Given the description of an element on the screen output the (x, y) to click on. 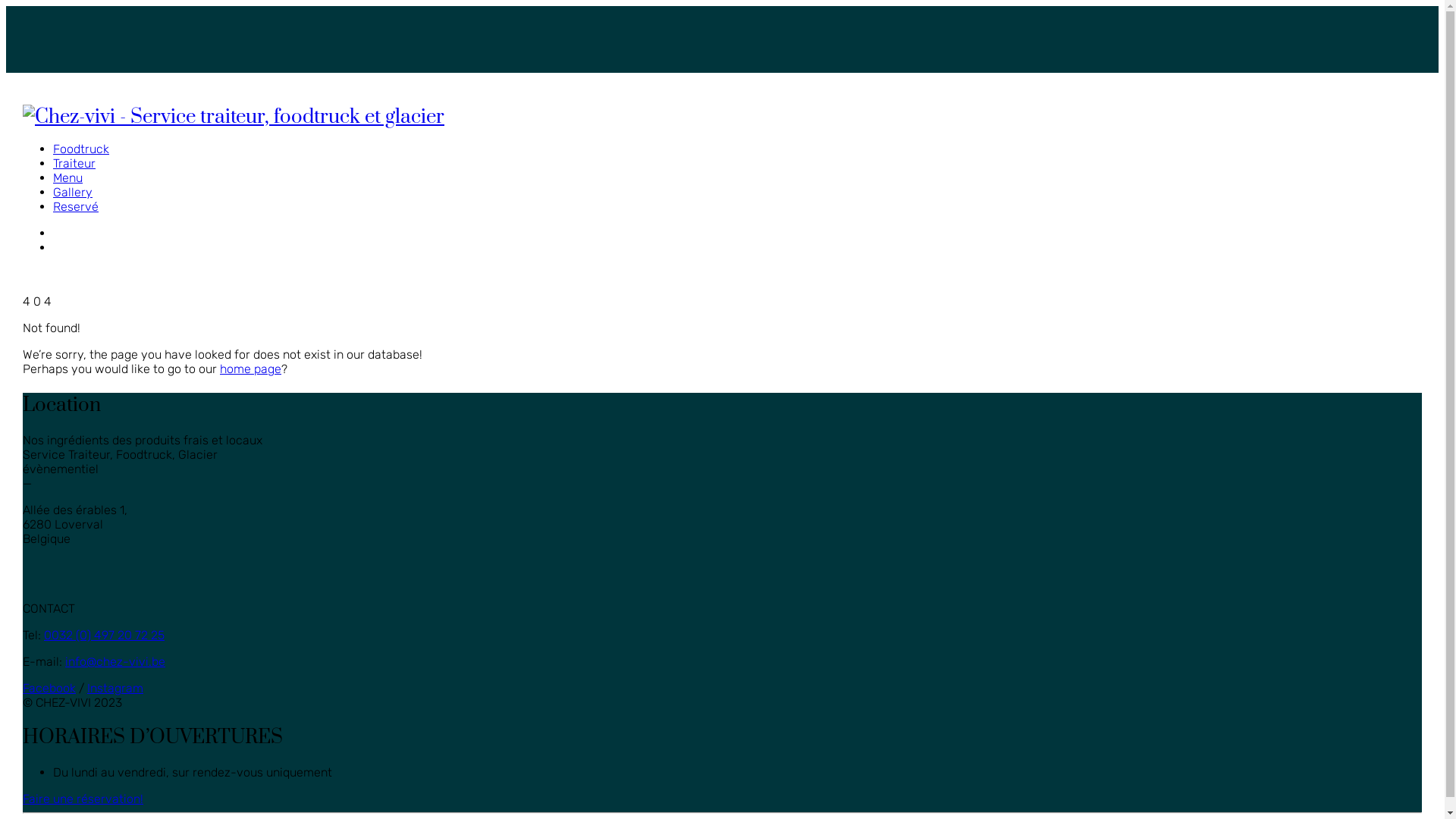
info@chez-vivi.be Element type: text (115, 661)
home page Element type: text (250, 368)
0032 (0) 497 20 72 25 Element type: text (103, 634)
Traiteur Element type: text (74, 163)
Menu Element type: text (67, 177)
Facebook Element type: text (48, 687)
Foodtruck Element type: text (81, 148)
Instagram Element type: text (115, 687)
Gallery Element type: text (72, 192)
